Given the description of an element on the screen output the (x, y) to click on. 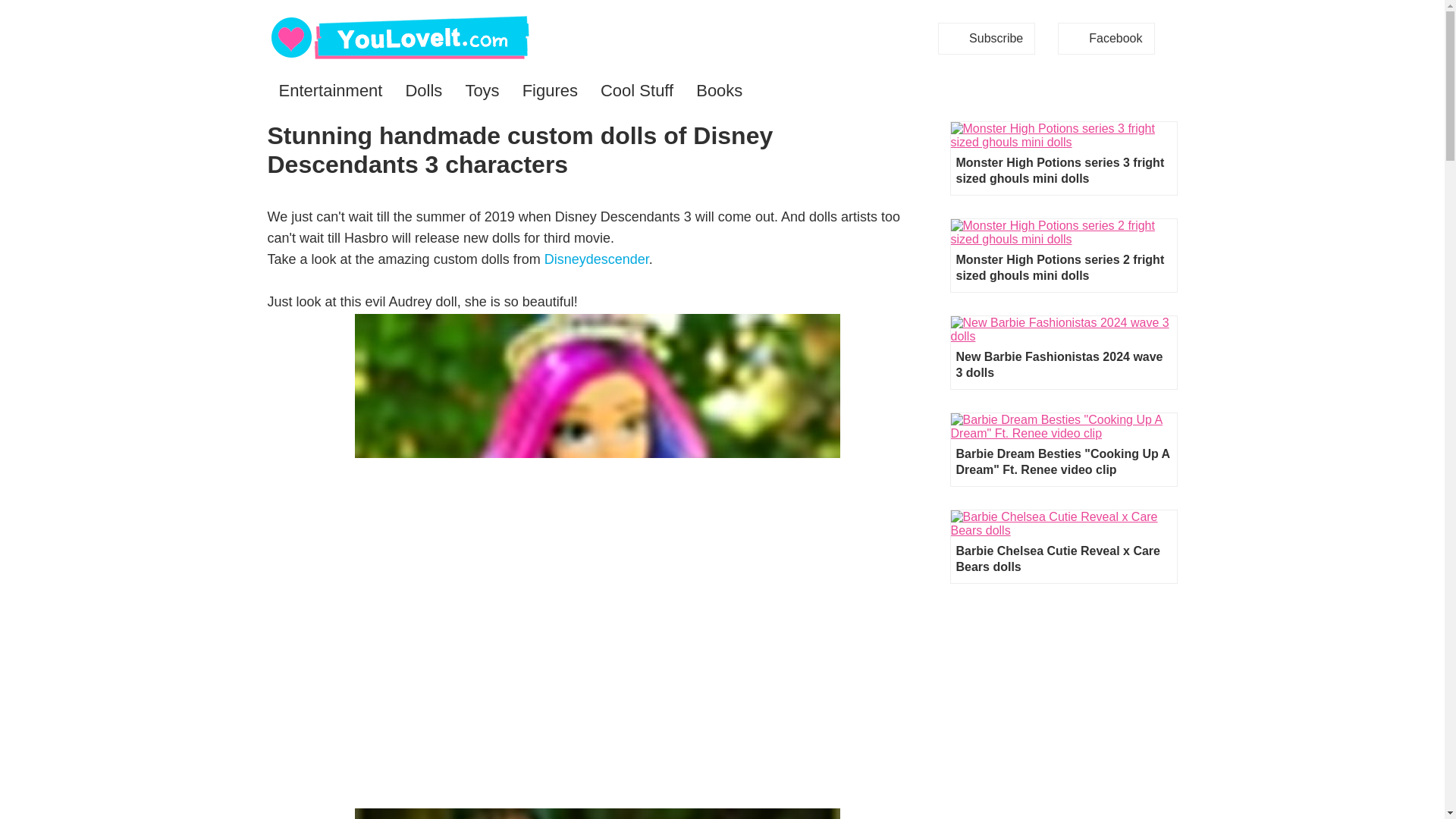
Disneydescender (596, 258)
Entertainment (329, 91)
Disney Descendants 3 evil Audrey custom doll (597, 812)
Cool Stuff (636, 91)
Subscribe (986, 38)
Figures (550, 91)
Facebook (1106, 38)
Dolls (422, 91)
Books (719, 91)
